Given the description of an element on the screen output the (x, y) to click on. 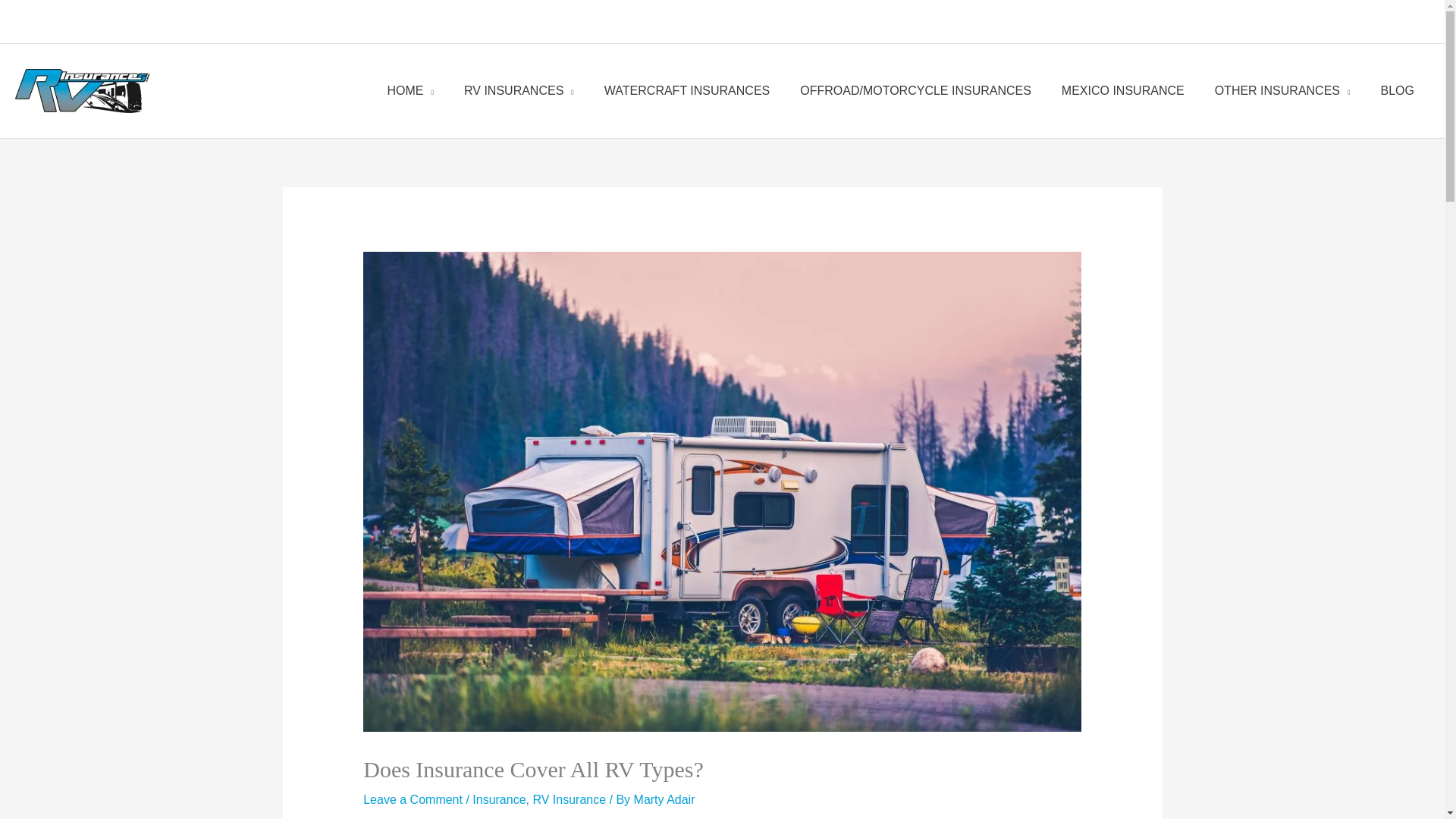
WATERCRAFT INSURANCES (686, 90)
Marty Adair (664, 799)
BLOG (1397, 90)
1-844-727-7207 (673, 26)
RV Insurance (568, 799)
Leave a Comment (412, 799)
View all posts by Marty Adair (664, 799)
HOME (410, 90)
RV INSURANCES (518, 90)
OTHER INSURANCES (1282, 90)
